Given the description of an element on the screen output the (x, y) to click on. 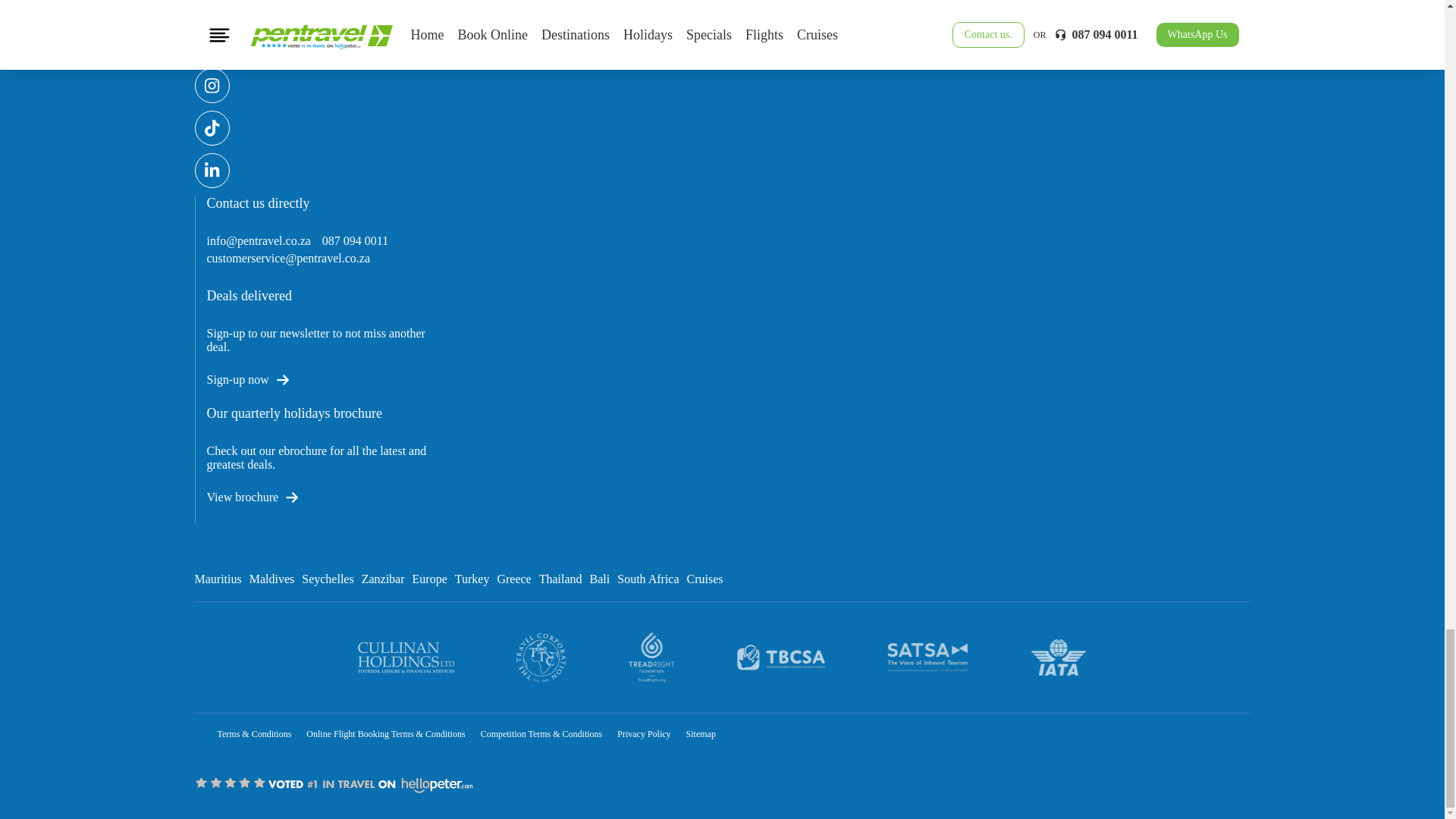
087 094 0011 (354, 241)
View brochure (245, 497)
Mauritius (217, 578)
Maldives (271, 578)
